Given the description of an element on the screen output the (x, y) to click on. 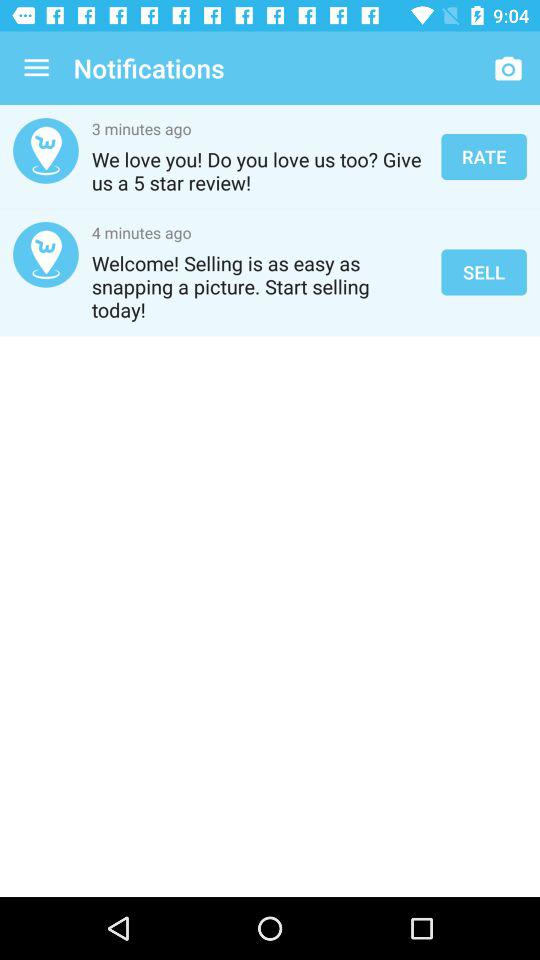
turn off the item next to rate item (259, 171)
